Given the description of an element on the screen output the (x, y) to click on. 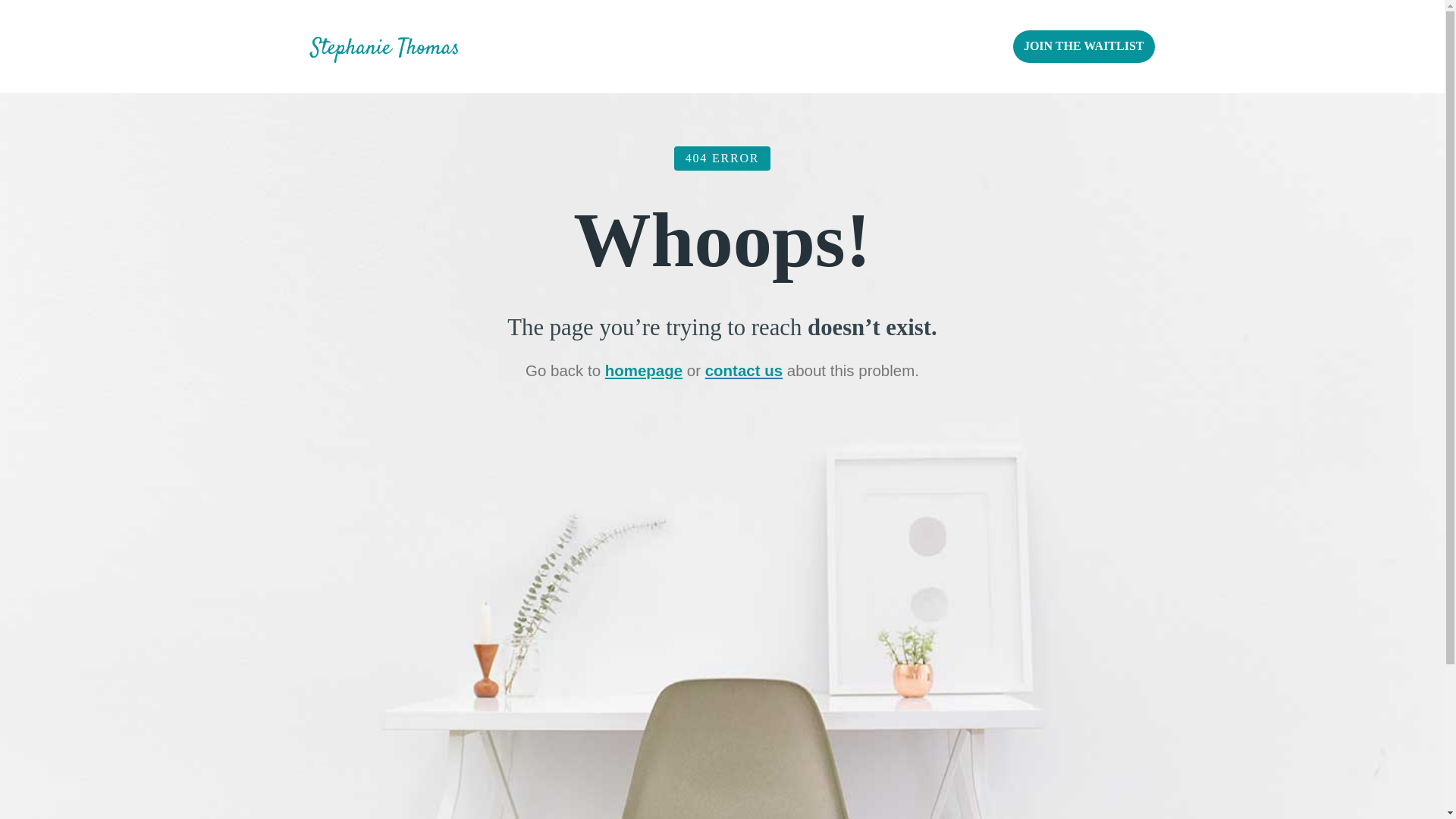
JOIN THE WAITLIST (1083, 46)
homepage (643, 370)
contact us (743, 370)
